Given the description of an element on the screen output the (x, y) to click on. 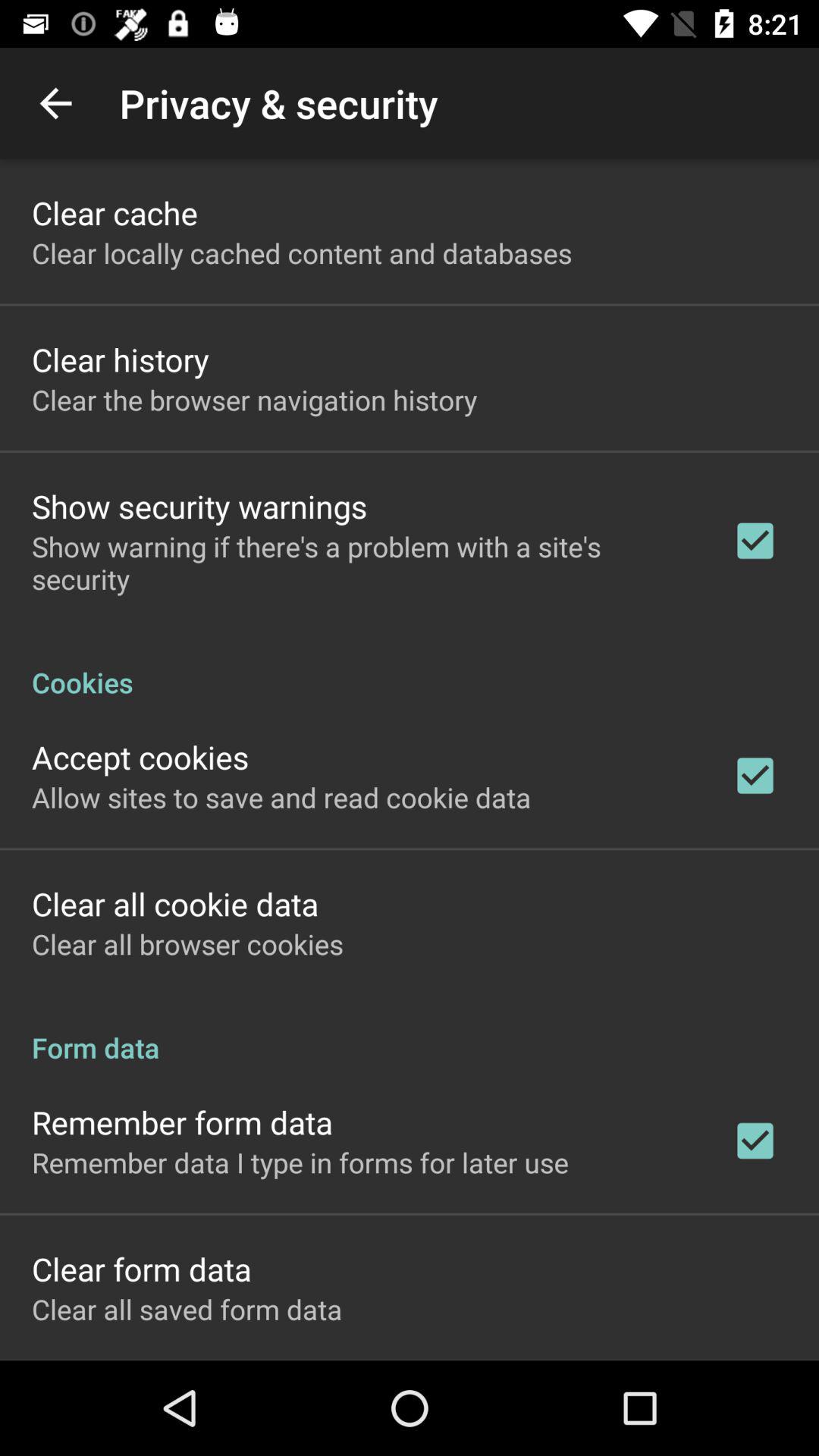
select app above the clear cache app (55, 103)
